Given the description of an element on the screen output the (x, y) to click on. 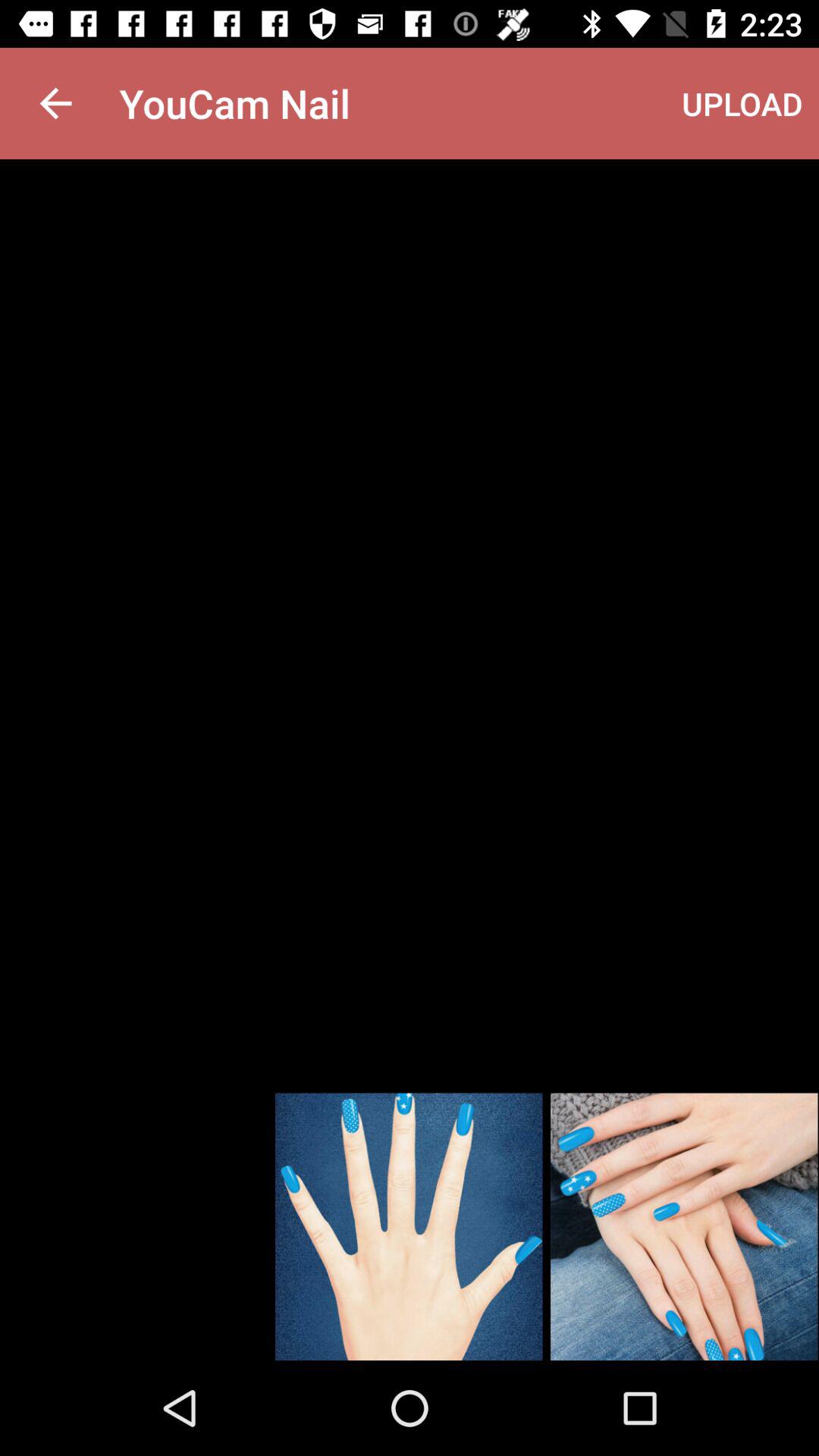
choose icon next to youcam nail icon (742, 103)
